Given the description of an element on the screen output the (x, y) to click on. 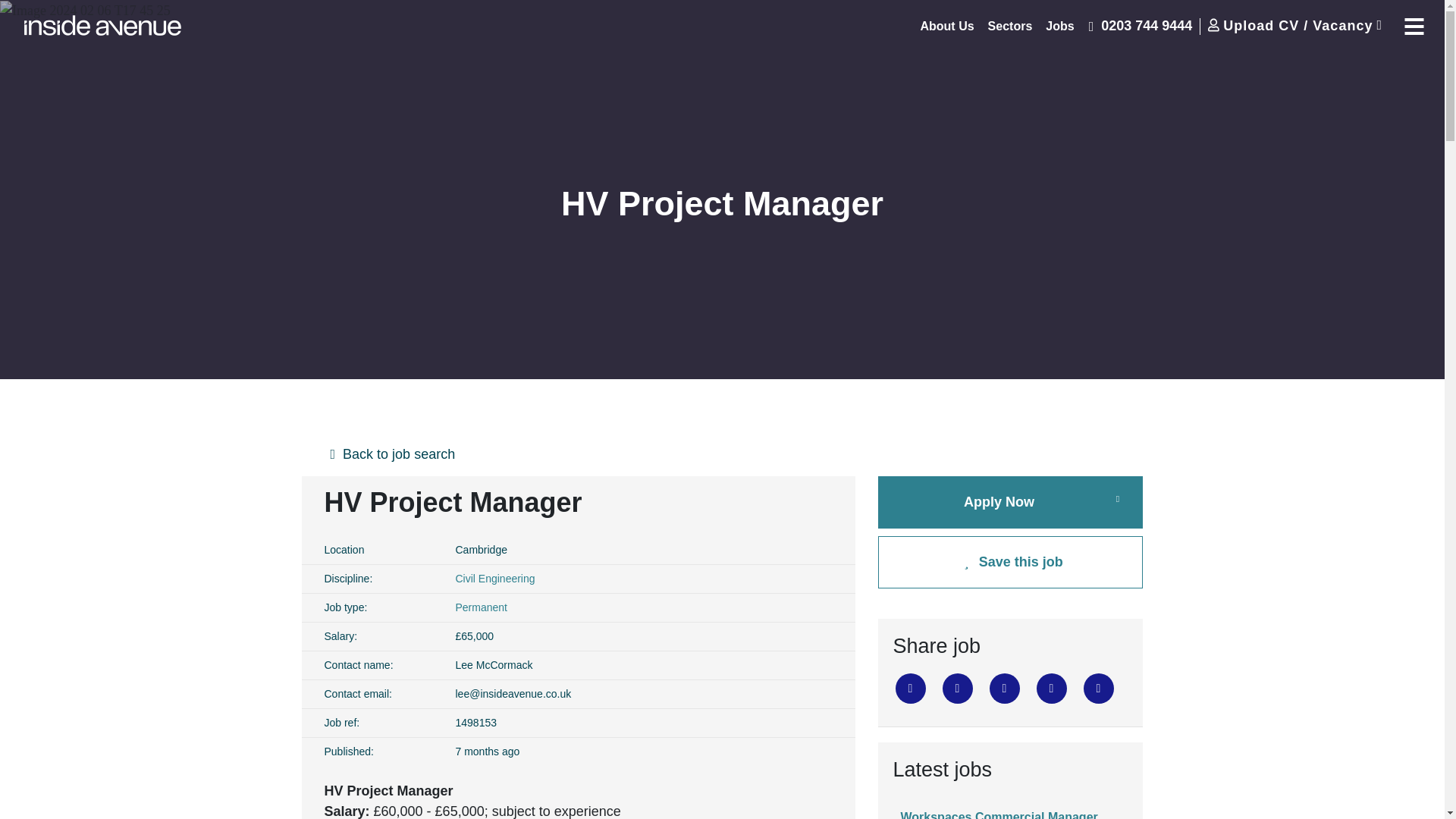
send in Whatsapp (1098, 688)
share on LinkedIn (1003, 688)
Tweet this (909, 688)
Email (1050, 688)
share on Facebook (957, 688)
